Given the description of an element on the screen output the (x, y) to click on. 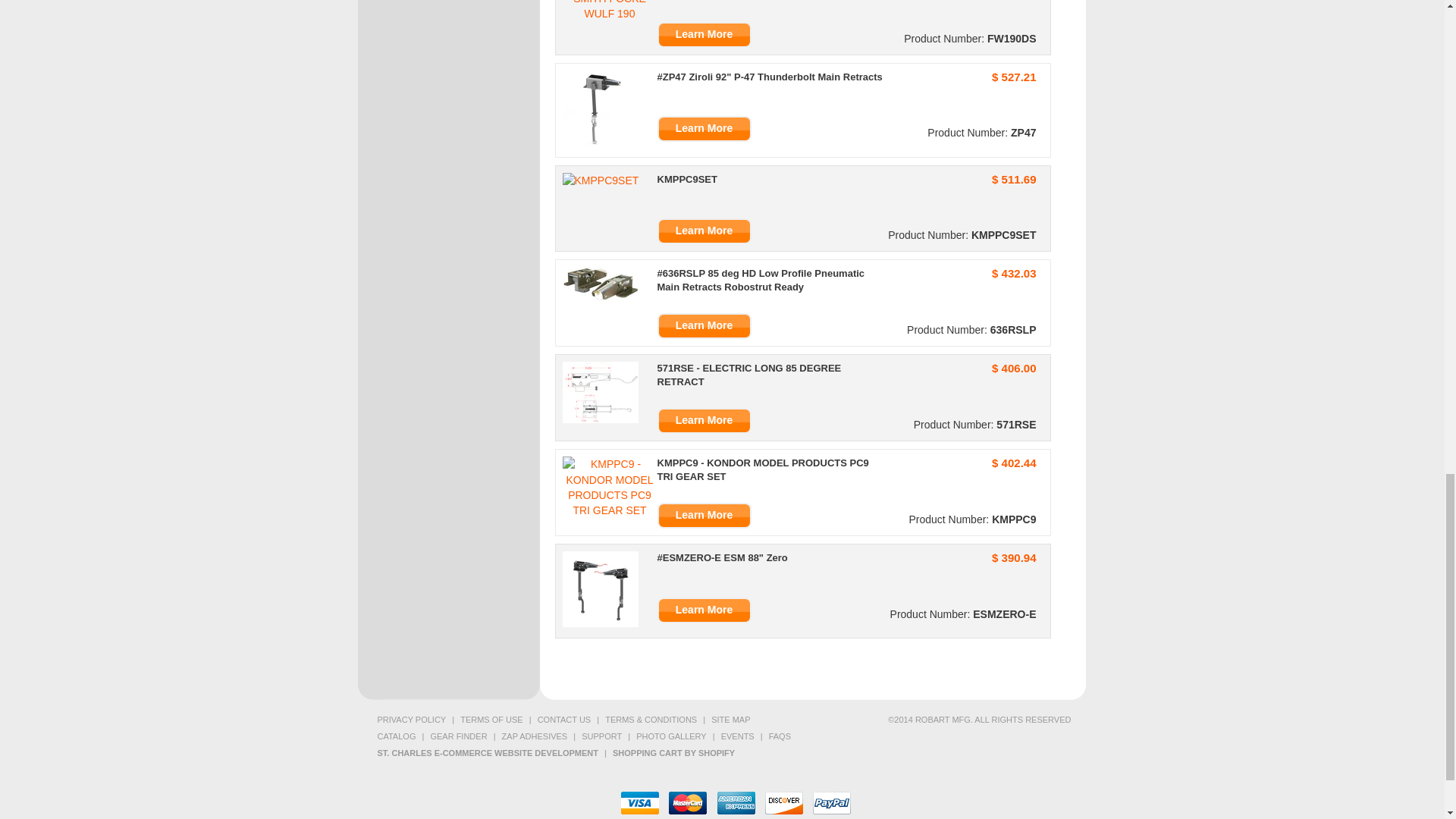
St. Charles E-Commerce Website Development (487, 752)
